Given the description of an element on the screen output the (x, y) to click on. 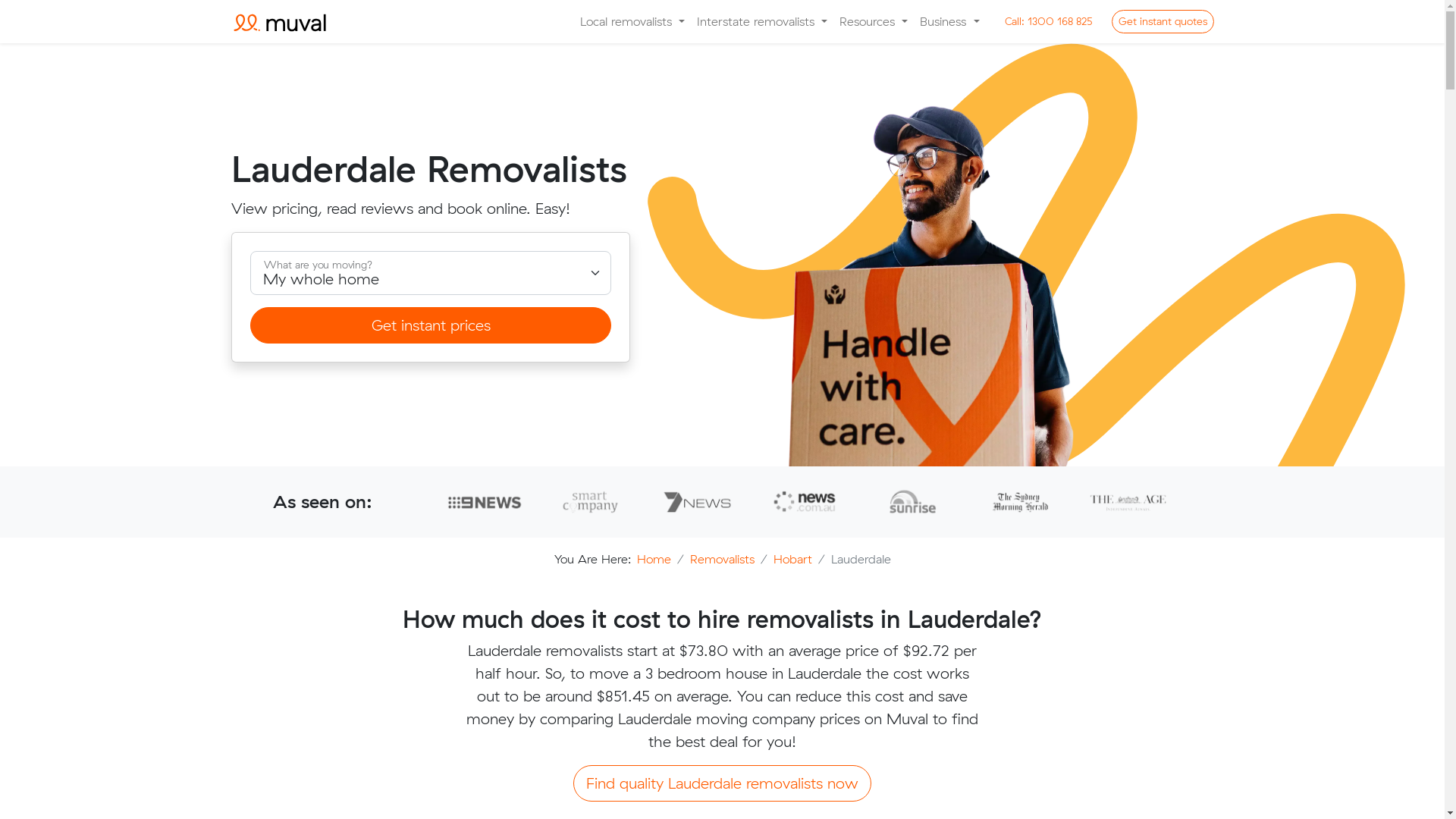
Removalists Element type: text (722, 558)
Home Element type: text (654, 558)
Hobart Element type: text (792, 558)
Get instant prices Element type: text (430, 325)
Business Element type: text (949, 21)
Local removalists Element type: text (632, 21)
Interstate removalists Element type: text (761, 21)
Find quality Lauderdale removalists now Element type: text (722, 783)
Resources Element type: text (873, 21)
Call: 1300 168 825 Element type: text (1048, 21)
Get instant quotes Element type: text (1162, 21)
